Given the description of an element on the screen output the (x, y) to click on. 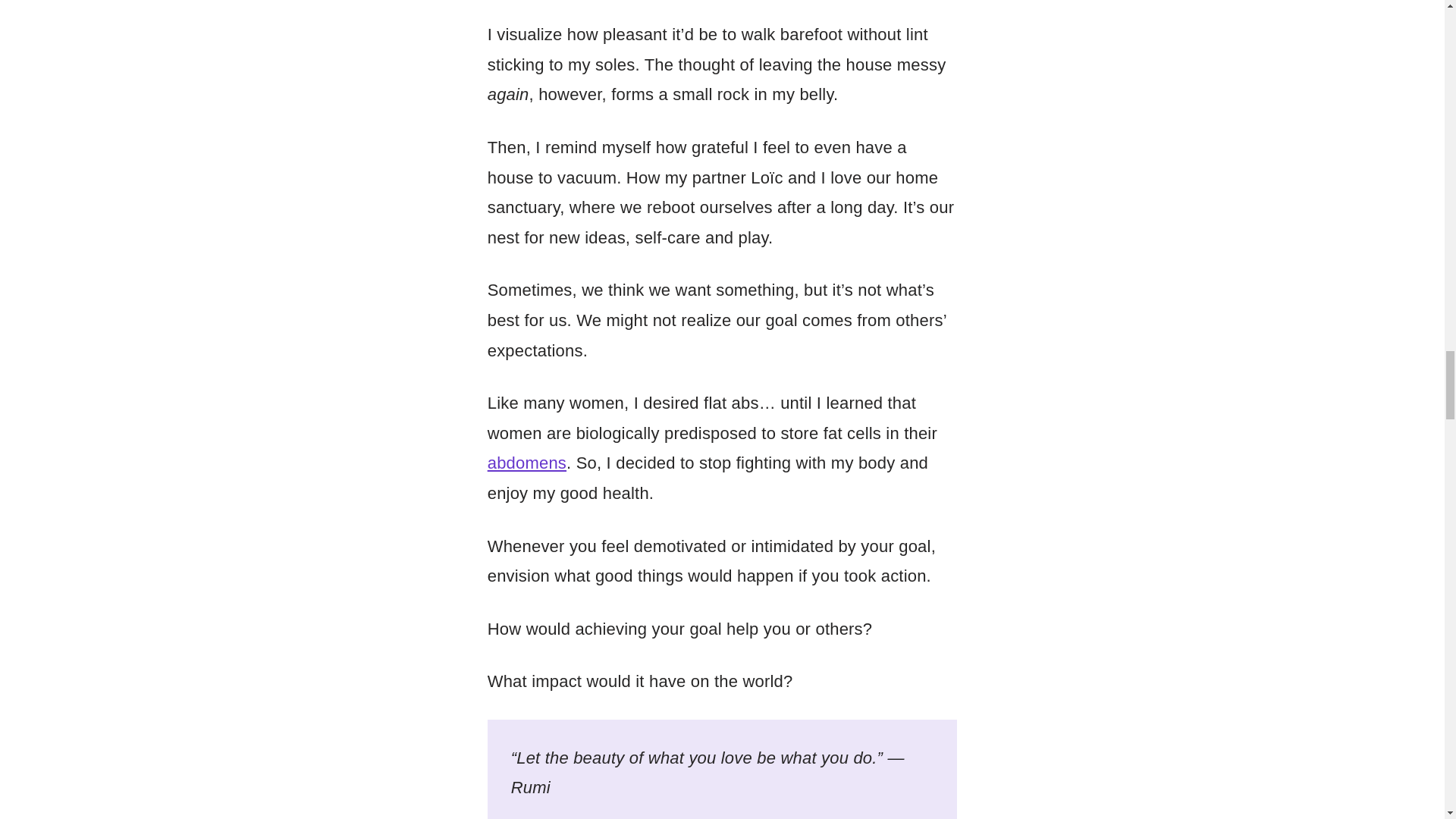
abdomens (526, 462)
